Given the description of an element on the screen output the (x, y) to click on. 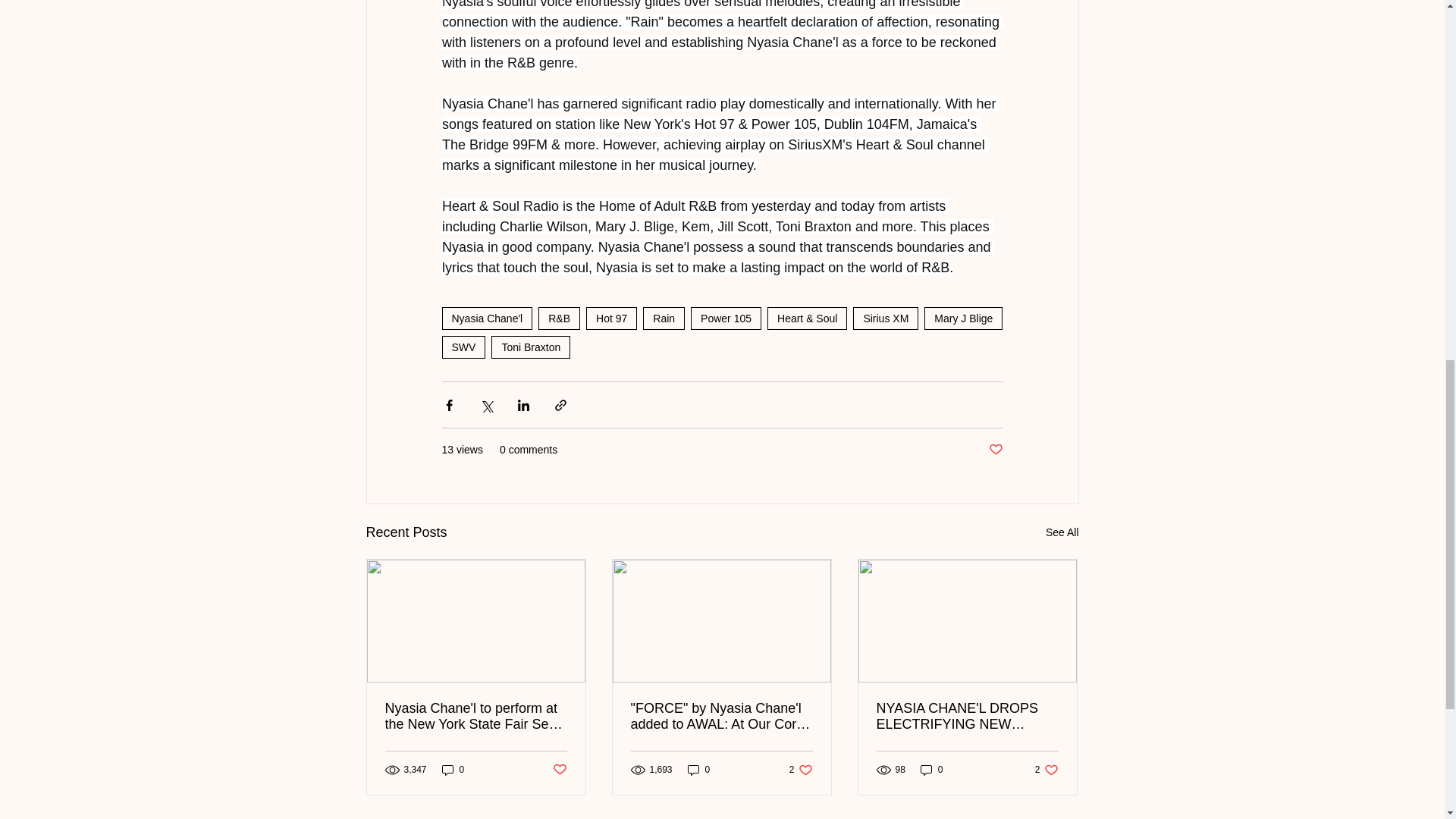
Power 105 (725, 318)
Rain (800, 769)
SWV (663, 318)
Mary J Blige (462, 346)
See All (963, 318)
0 (1061, 532)
Post not marked as liked (453, 769)
